Given the description of an element on the screen output the (x, y) to click on. 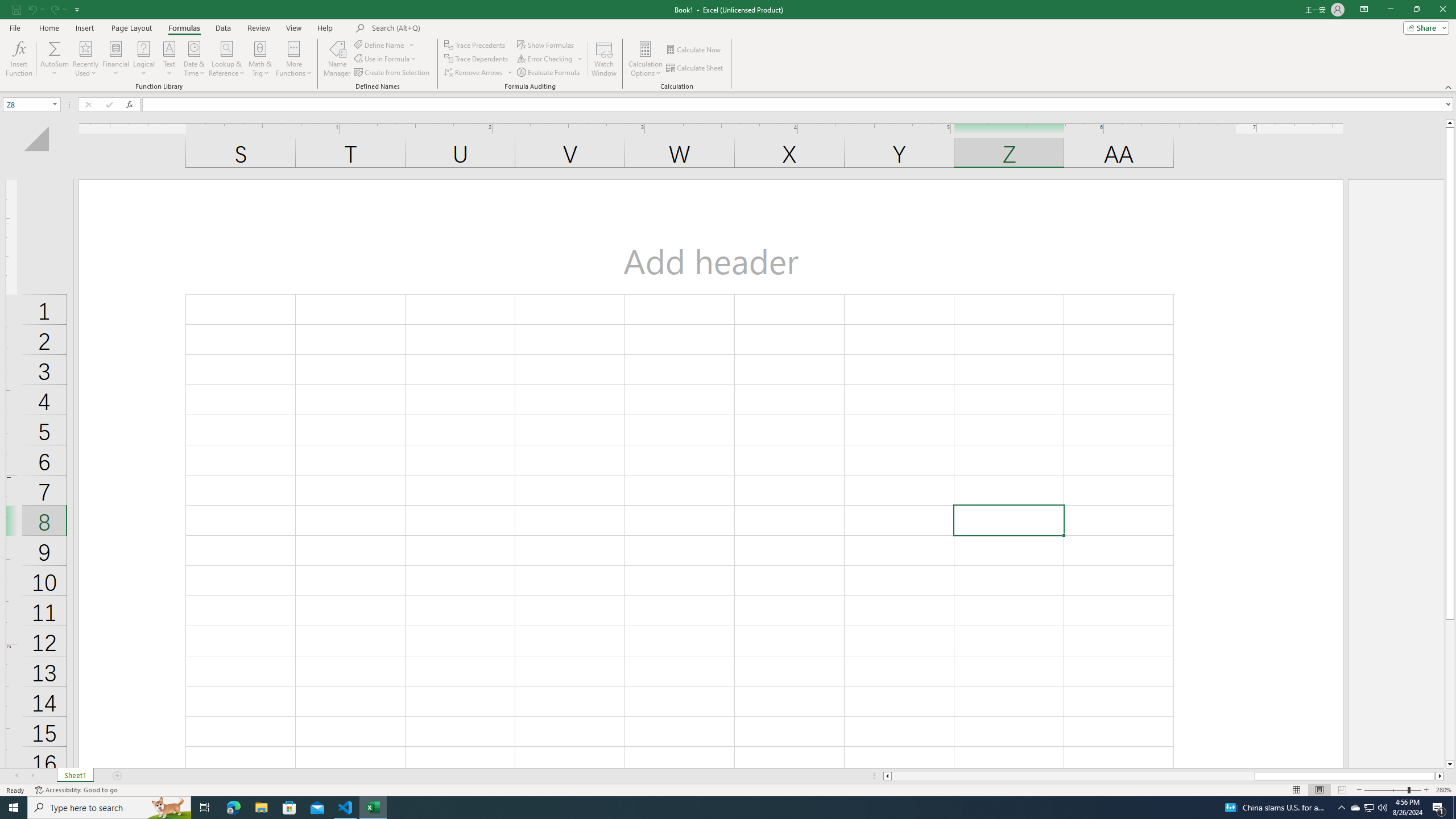
Use in Formula (385, 58)
Define Name (384, 44)
Lookup & Reference (227, 58)
